Given the description of an element on the screen output the (x, y) to click on. 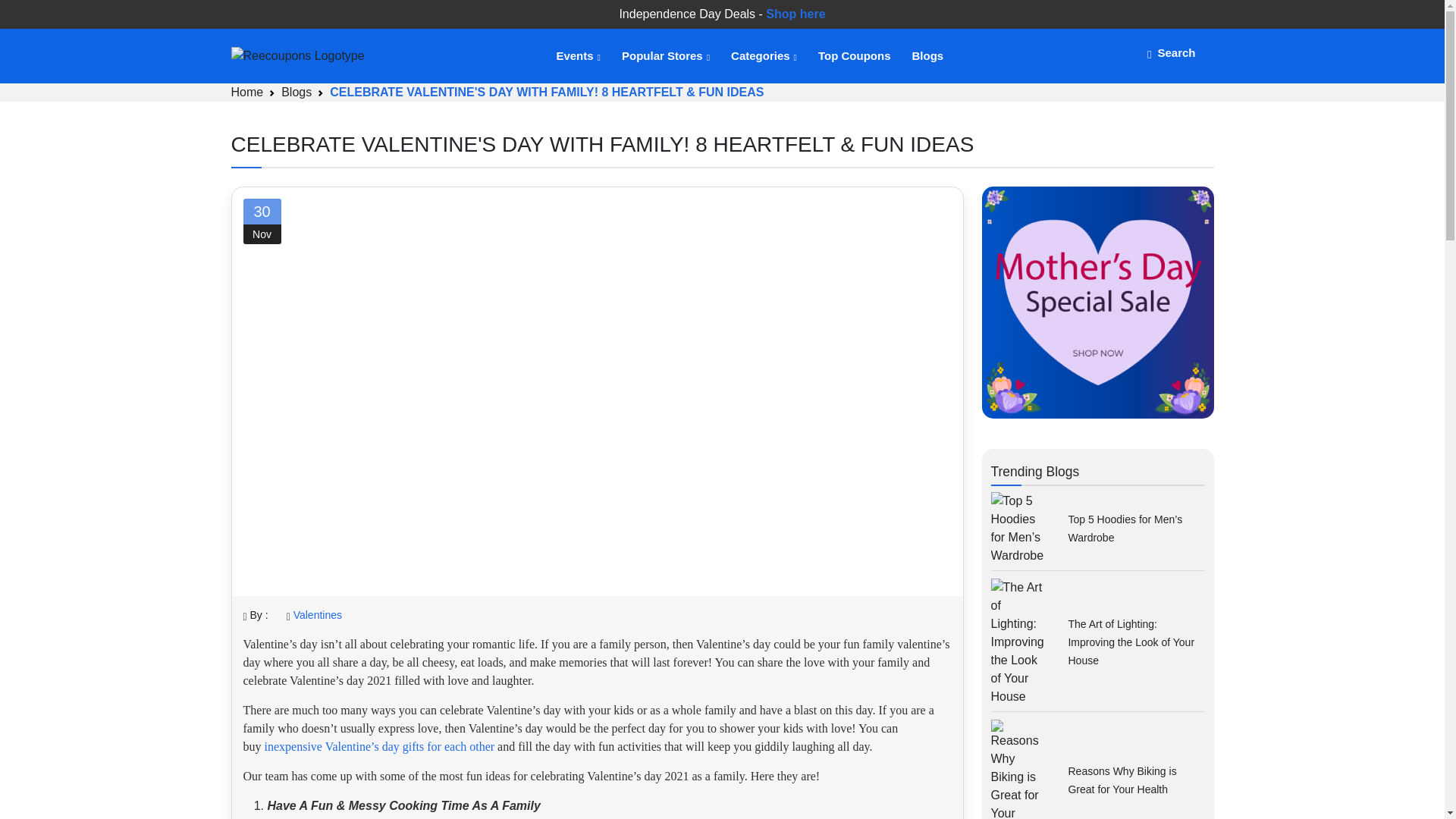
Valentines (318, 614)
The Art of Lighting: Improving the Look of Your House (1130, 642)
Popular Stores (664, 56)
Events (577, 56)
Search (1171, 51)
Blogs (927, 56)
Top Coupons (853, 56)
Categories (762, 56)
Blogs (296, 91)
Home (246, 91)
